Given the description of an element on the screen output the (x, y) to click on. 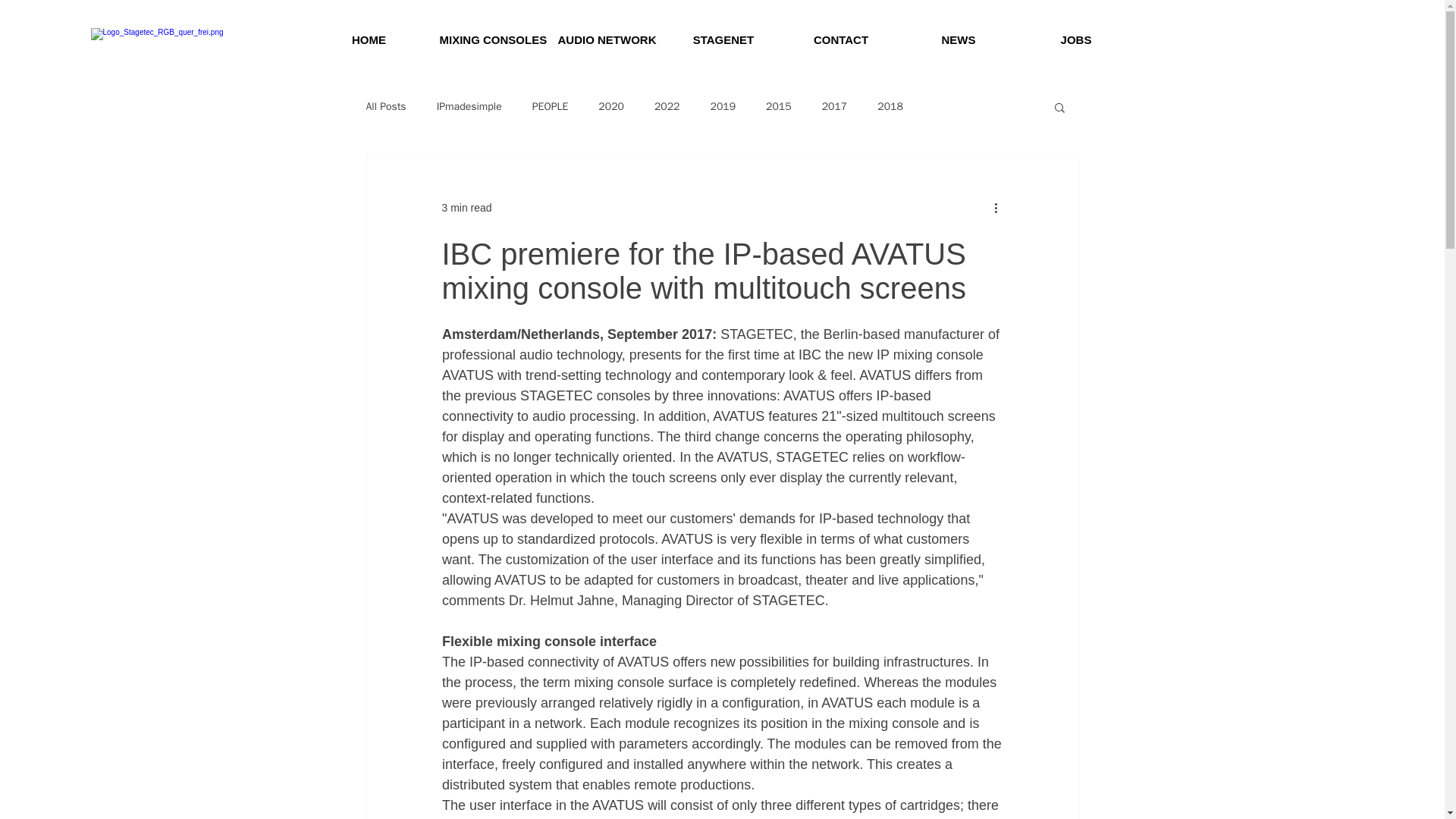
JOBS (1076, 40)
STAGENET (722, 40)
IPmadesimple (469, 106)
AUDIO NETWORK (604, 40)
2019 (722, 106)
HOME (368, 40)
PEOPLE (550, 106)
2020 (611, 106)
MIXING CONSOLES (487, 40)
2022 (666, 106)
